Given the description of an element on the screen output the (x, y) to click on. 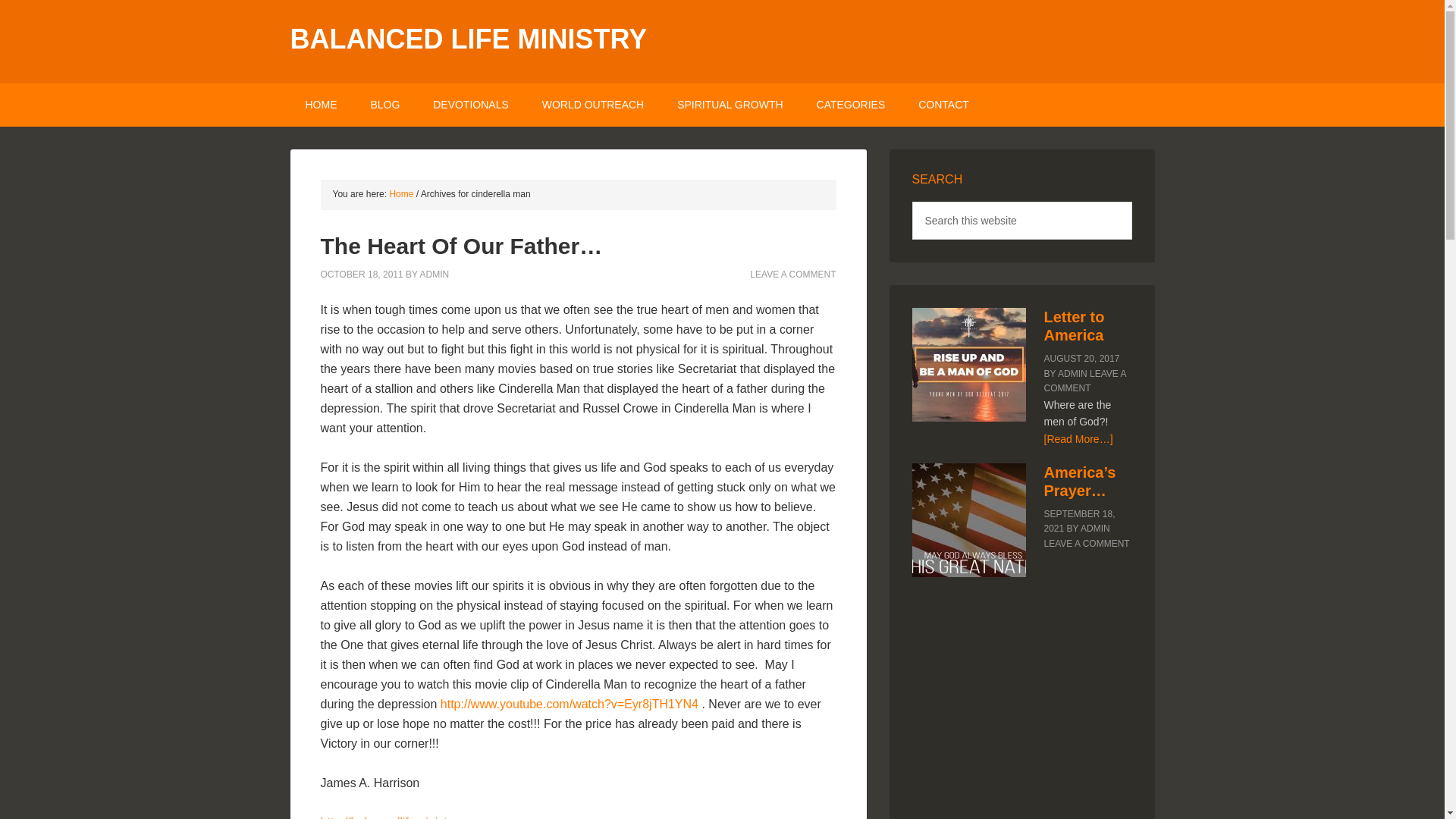
CATEGORIES (851, 104)
Home (400, 194)
CONTACT (943, 104)
DEVOTIONALS (470, 104)
SPIRITUAL GROWTH (729, 104)
WORLD OUTREACH (593, 104)
ADMIN (433, 273)
HOME (320, 104)
BALANCED LIFE MINISTRY (467, 38)
BLOG (384, 104)
LEAVE A COMMENT (792, 273)
